Given the description of an element on the screen output the (x, y) to click on. 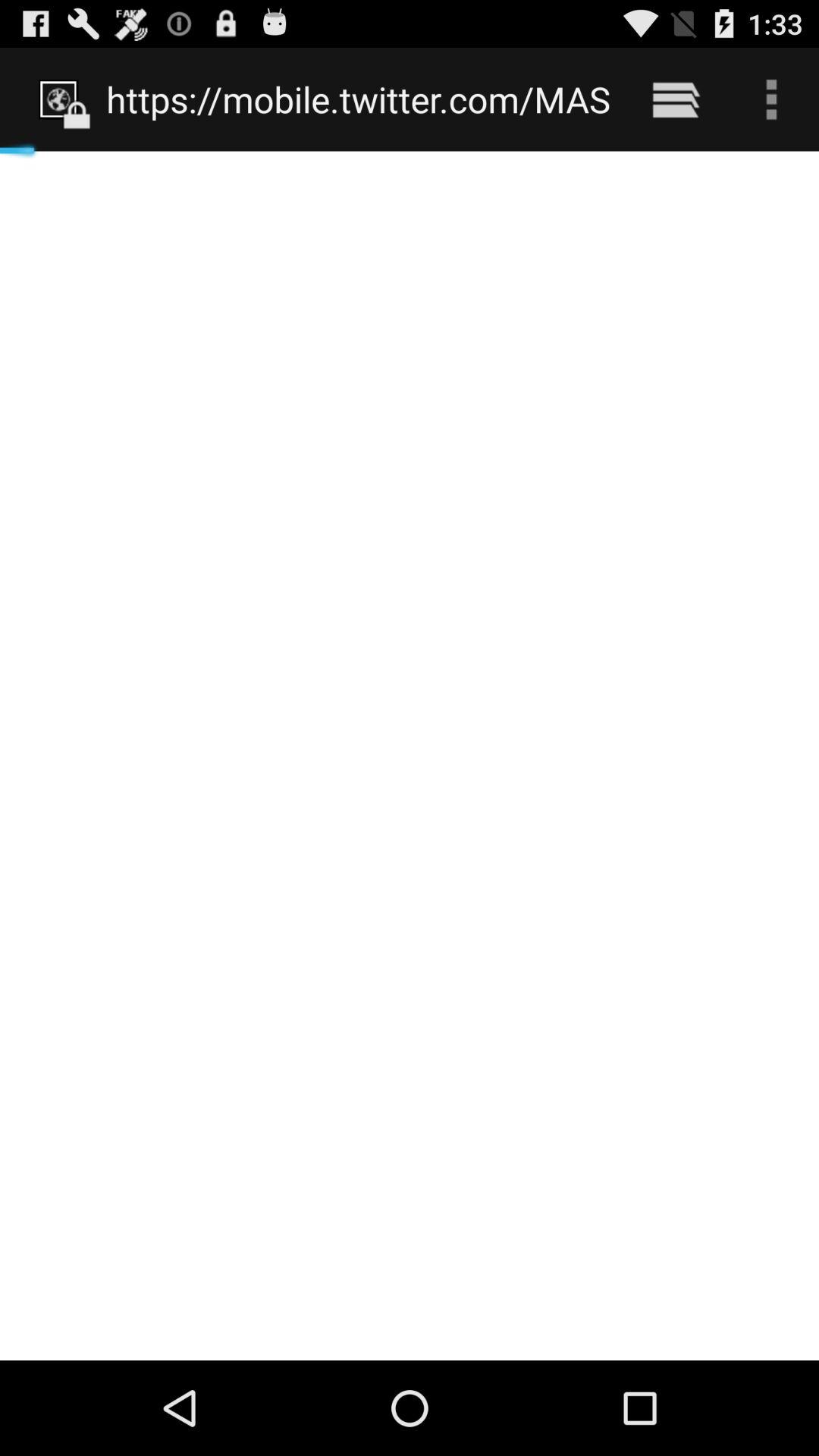
open item next to https mobile twitter (675, 99)
